Given the description of an element on the screen output the (x, y) to click on. 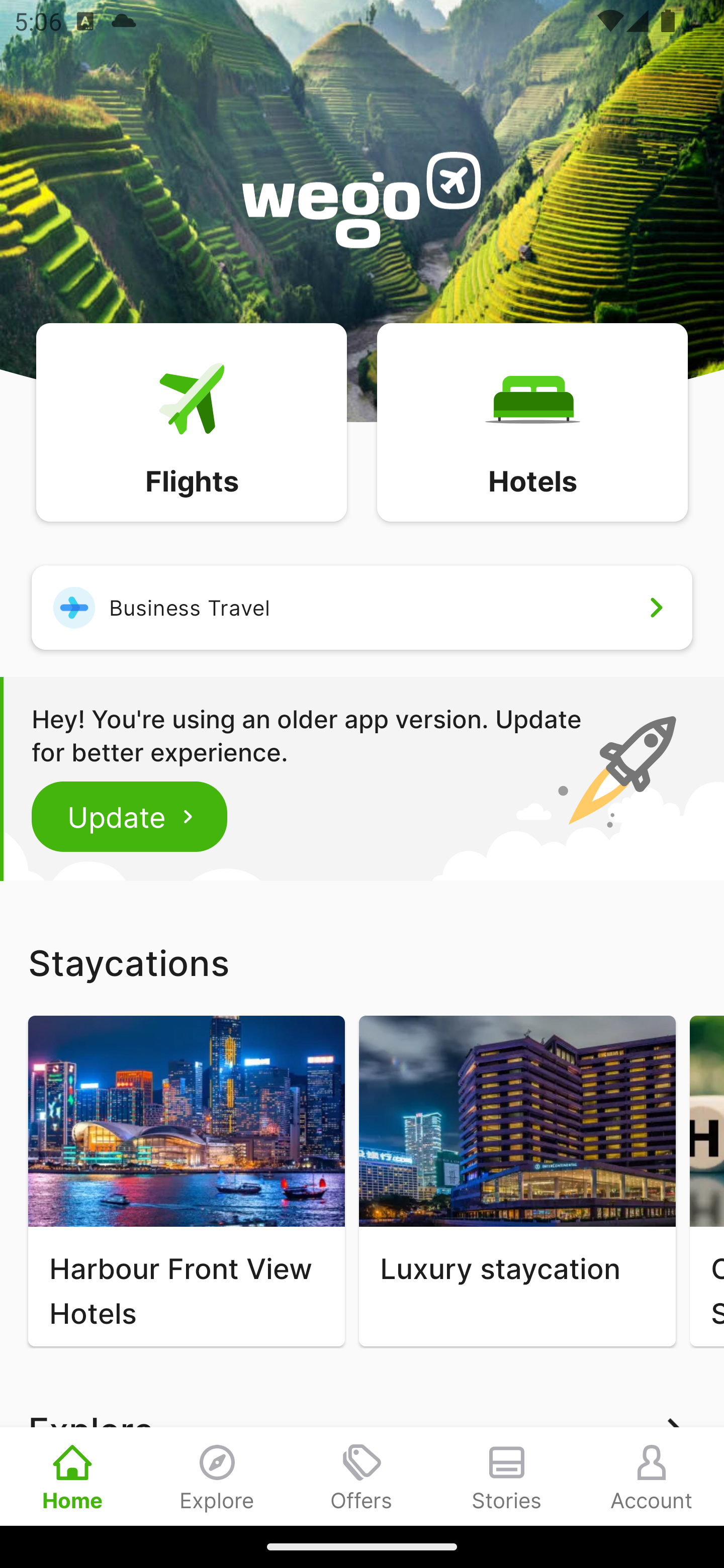
Flights (191, 420)
Hotels (532, 420)
Business Travel (361, 607)
Update (129, 815)
Staycations (362, 962)
Harbour Front View Hotels (186, 1181)
Luxury staycation (517, 1181)
Explore (216, 1475)
Offers (361, 1475)
Stories (506, 1475)
Account (651, 1475)
